Given the description of an element on the screen output the (x, y) to click on. 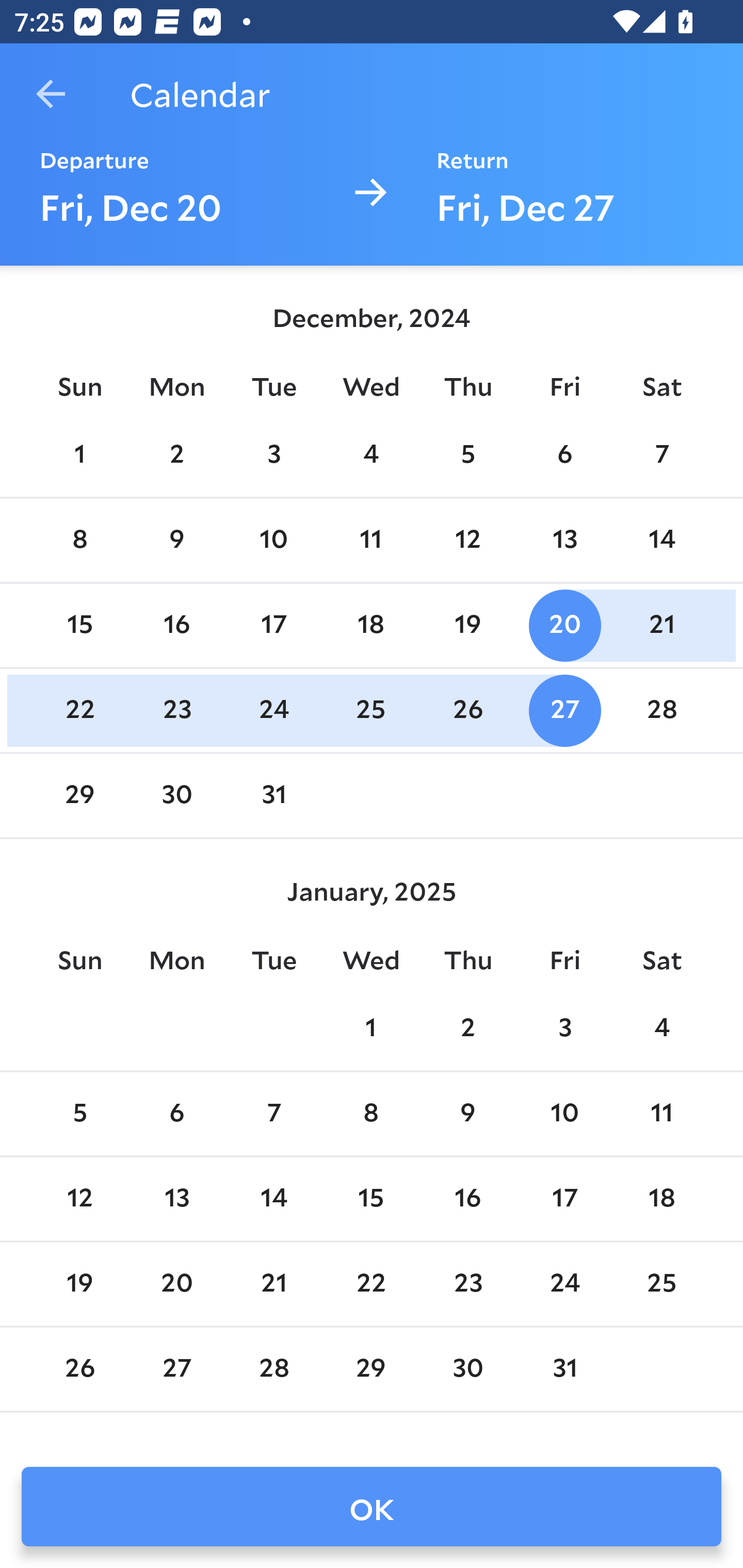
Navigate up (50, 93)
1 (79, 454)
2 (177, 454)
3 (273, 454)
4 (371, 454)
5 (467, 454)
6 (565, 454)
7 (661, 454)
8 (79, 540)
9 (177, 540)
10 (273, 540)
11 (371, 540)
12 (467, 540)
13 (565, 540)
14 (661, 540)
15 (79, 625)
16 (177, 625)
17 (273, 625)
18 (371, 625)
19 (467, 625)
20 (565, 625)
21 (661, 625)
22 (79, 710)
23 (177, 710)
24 (273, 710)
25 (371, 710)
26 (467, 710)
27 (565, 710)
28 (661, 710)
29 (79, 796)
30 (177, 796)
31 (273, 796)
1 (371, 1028)
2 (467, 1028)
3 (565, 1028)
4 (661, 1028)
5 (79, 1114)
6 (177, 1114)
7 (273, 1114)
8 (371, 1114)
9 (467, 1114)
10 (565, 1114)
11 (661, 1114)
12 (79, 1199)
13 (177, 1199)
14 (273, 1199)
15 (371, 1199)
16 (467, 1199)
17 (565, 1199)
18 (661, 1199)
